Given the description of an element on the screen output the (x, y) to click on. 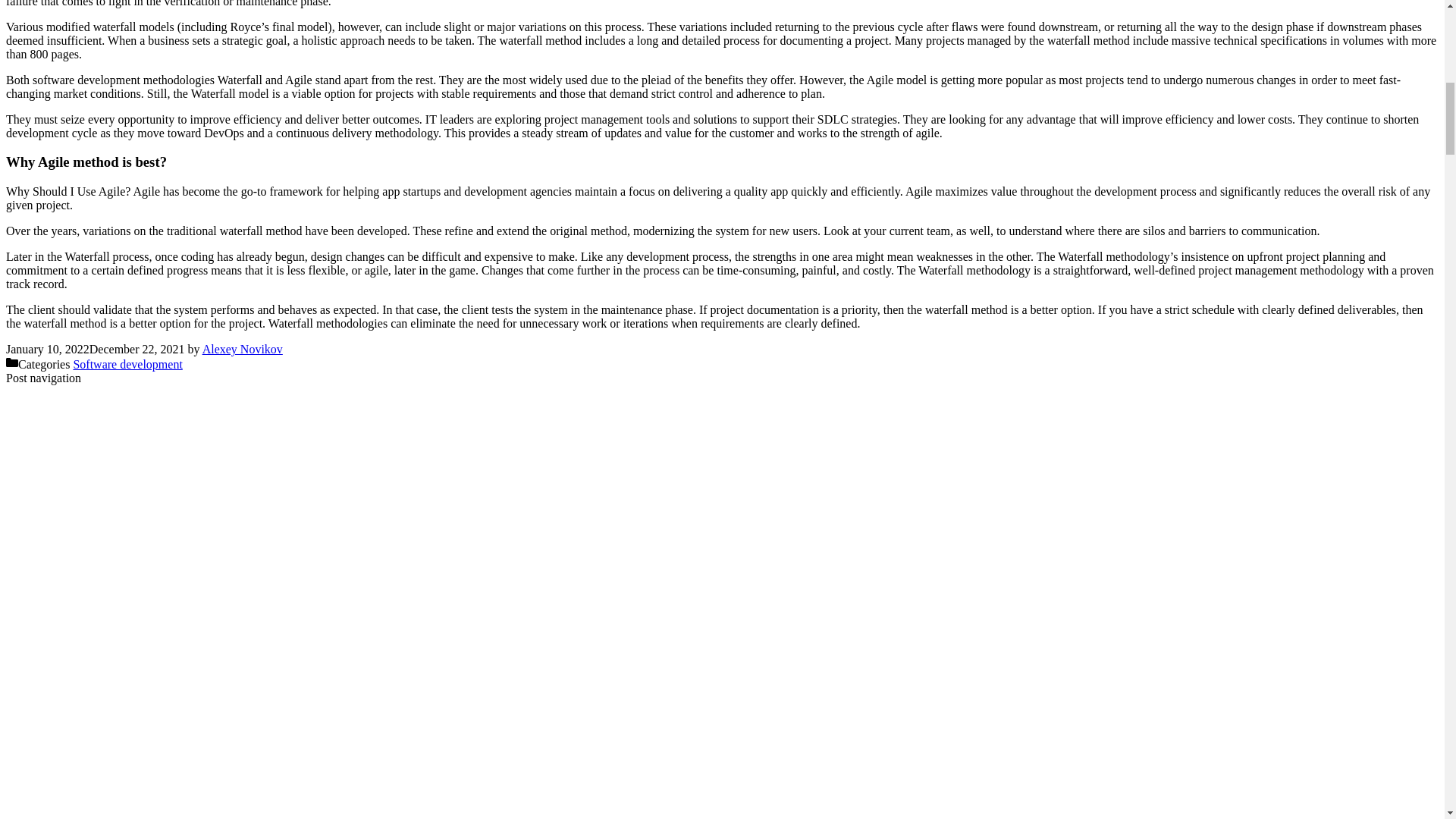
Alexey Novikov (242, 349)
View all posts by Alexey Novikov (242, 349)
Software development (127, 364)
